Given the description of an element on the screen output the (x, y) to click on. 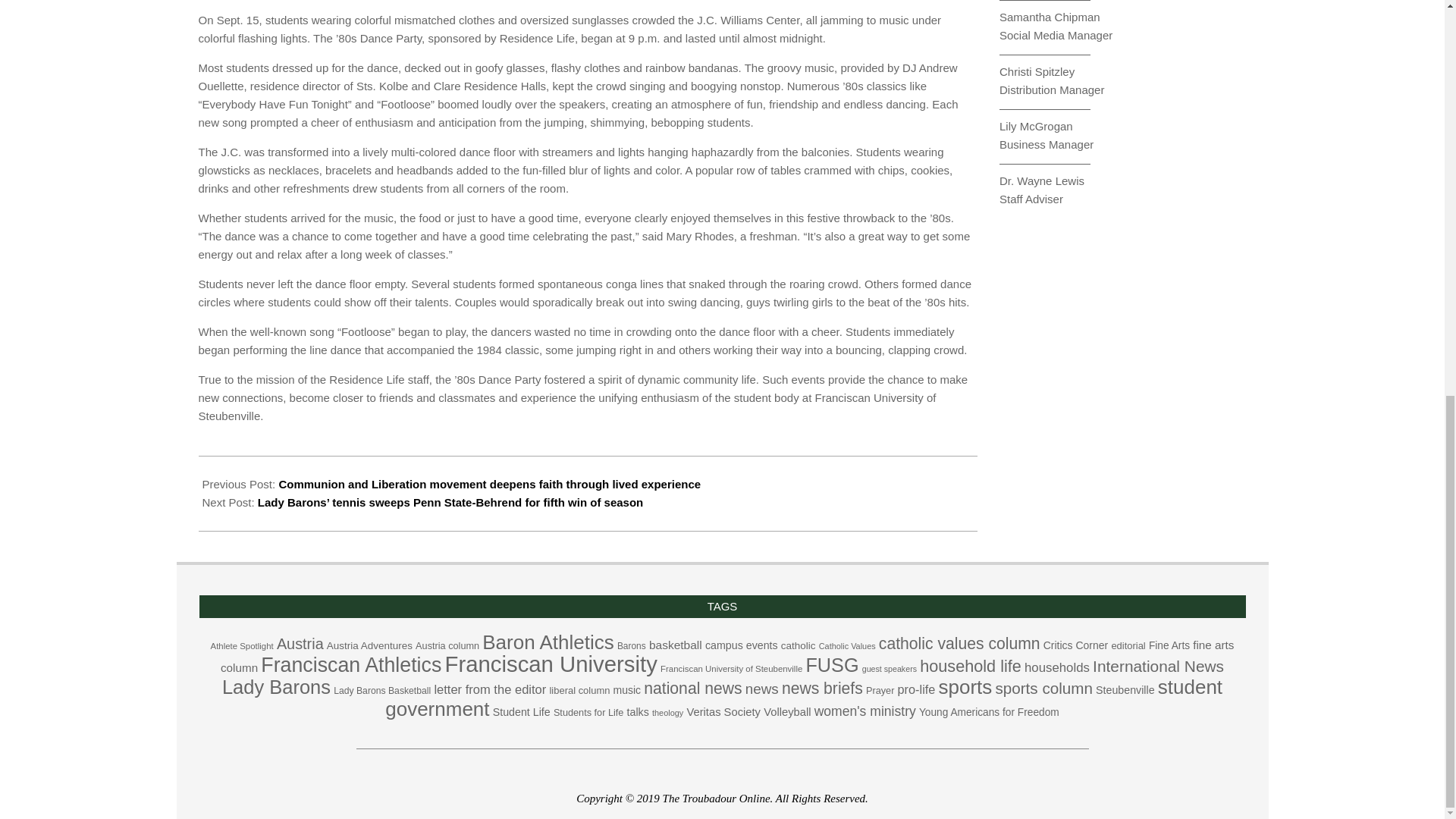
Austria Adventures (369, 645)
households (1057, 667)
Critics Corner (1075, 645)
Barons (631, 645)
Austria (299, 643)
Baron Athletics (546, 641)
fine arts column (727, 656)
guest speakers (889, 668)
editorial (1127, 645)
household life (971, 665)
Catholic Values (847, 645)
Athlete Spotlight (242, 645)
Austria column (446, 645)
basketball (675, 644)
